Given the description of an element on the screen output the (x, y) to click on. 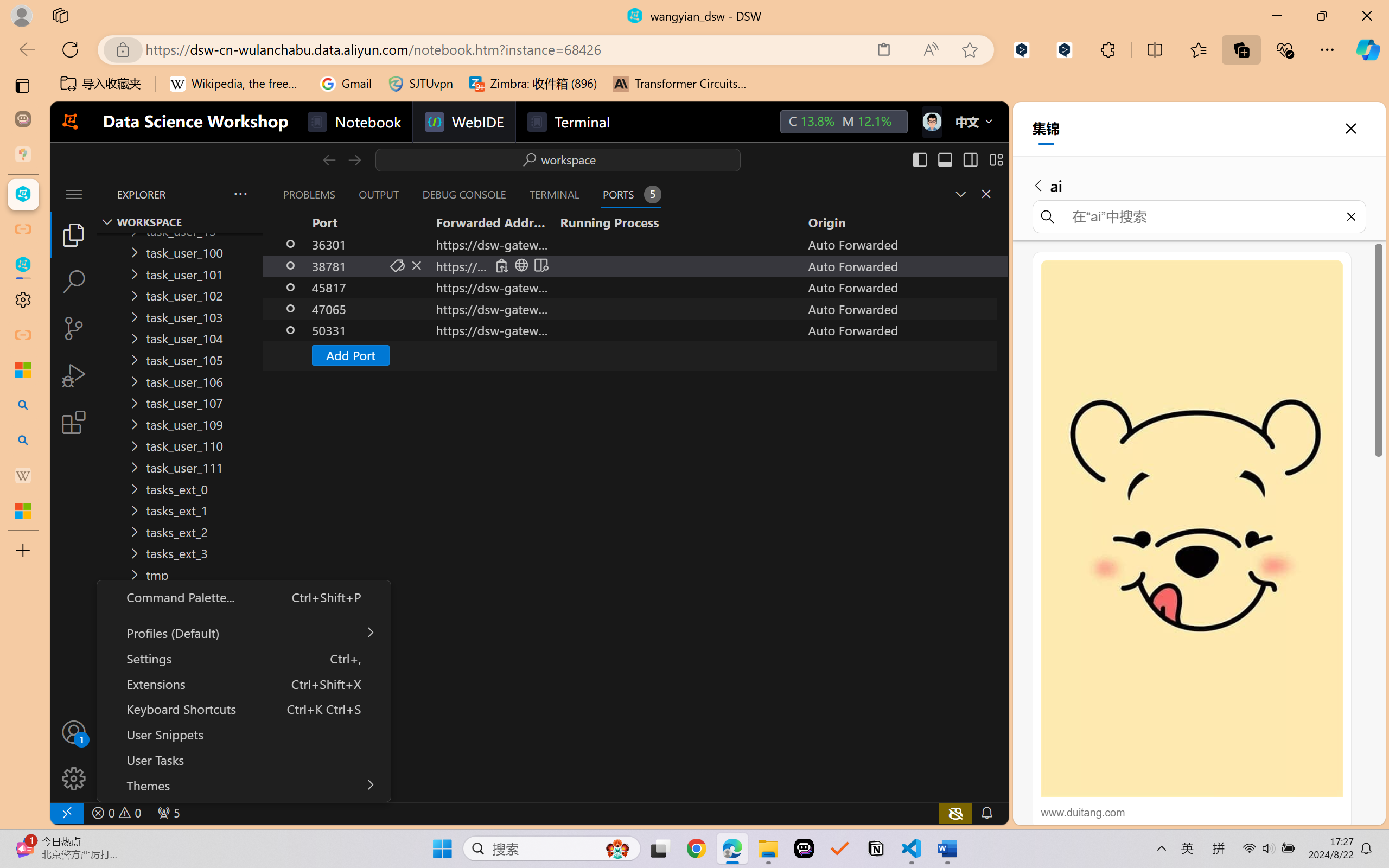
remote (66, 812)
Transformer Circuits Thread (680, 83)
Close Panel (986, 193)
Terminal (Ctrl+`) (553, 194)
Toggle Secondary Side Bar (Ctrl+Alt+B) (969, 159)
copilot-notconnected, Copilot error (click for details) (955, 812)
User Tasks (243, 759)
Timeline Section (179, 791)
Set Port Label (F2) (396, 265)
